Given the description of an element on the screen output the (x, y) to click on. 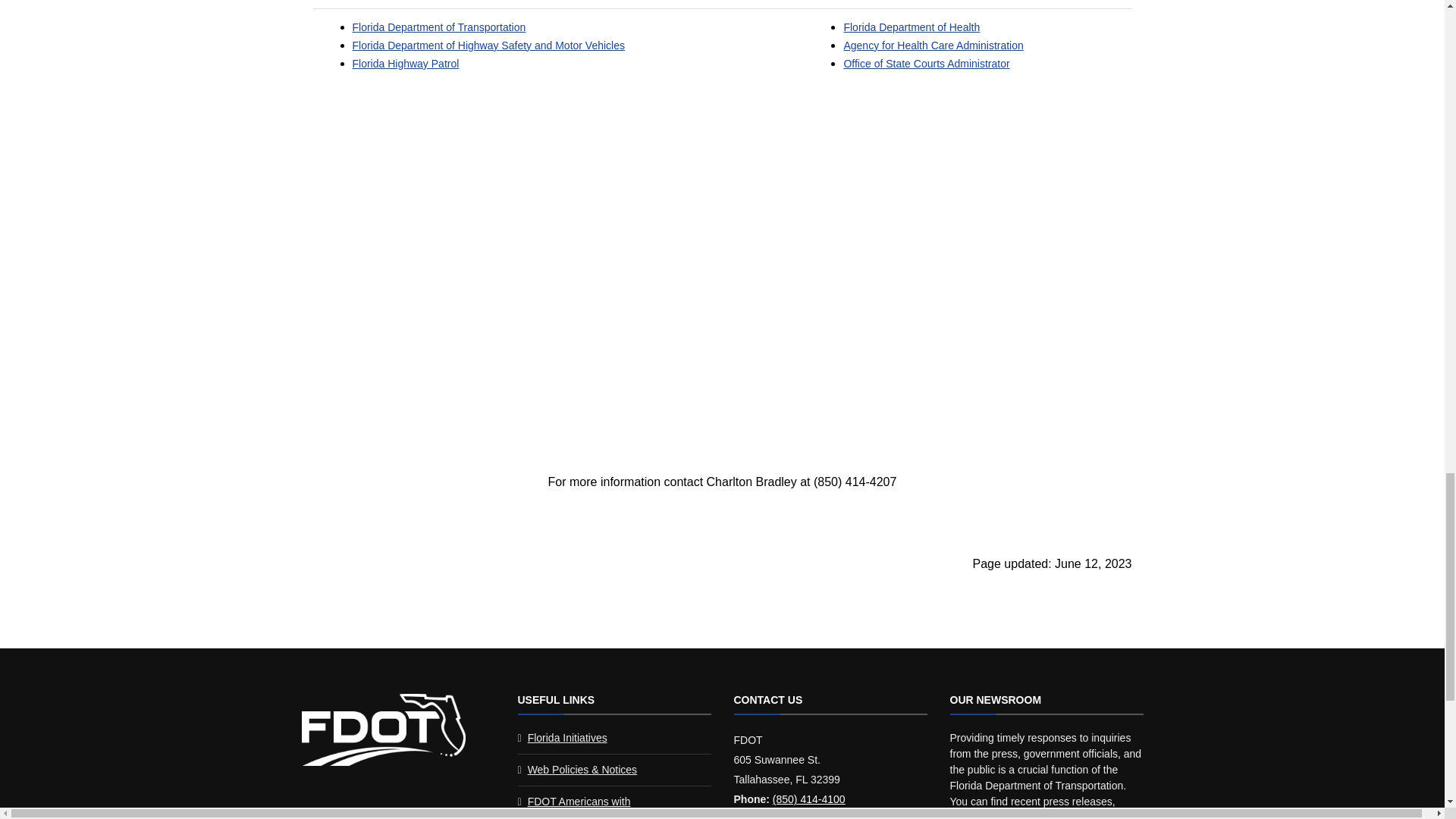
Florida Department of Health (911, 27)
Agency for Health Care Administration (933, 45)
Florida Highway Patrol (405, 63)
Florida Initiatives (567, 737)
Florida Department of Highway Safety and Motor Vehicles (488, 45)
Florida Department of Transportation (438, 27)
Office of State Courts Administrator (926, 63)
